Given the description of an element on the screen output the (x, y) to click on. 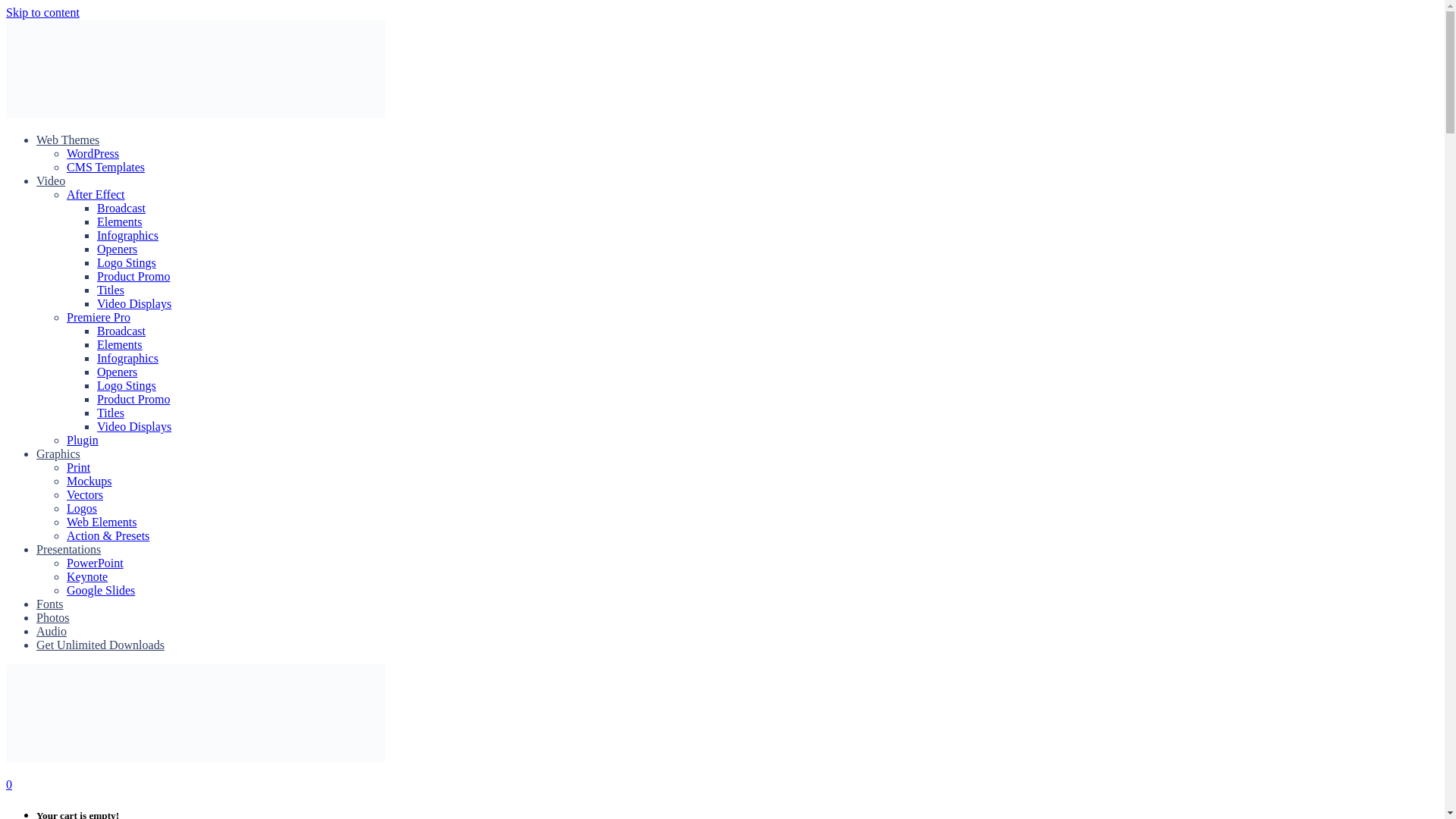
Audio (51, 631)
Vectors (84, 494)
Openers (116, 248)
PowerPoint (94, 562)
CMS Templates (105, 166)
Titles (110, 412)
Keynote (86, 576)
Product Promo (133, 276)
After Effect (95, 194)
Google Slides (100, 590)
Elements (119, 221)
Photos (52, 617)
Broadcast (121, 330)
Graphics (58, 453)
Fonts (50, 603)
